Given the description of an element on the screen output the (x, y) to click on. 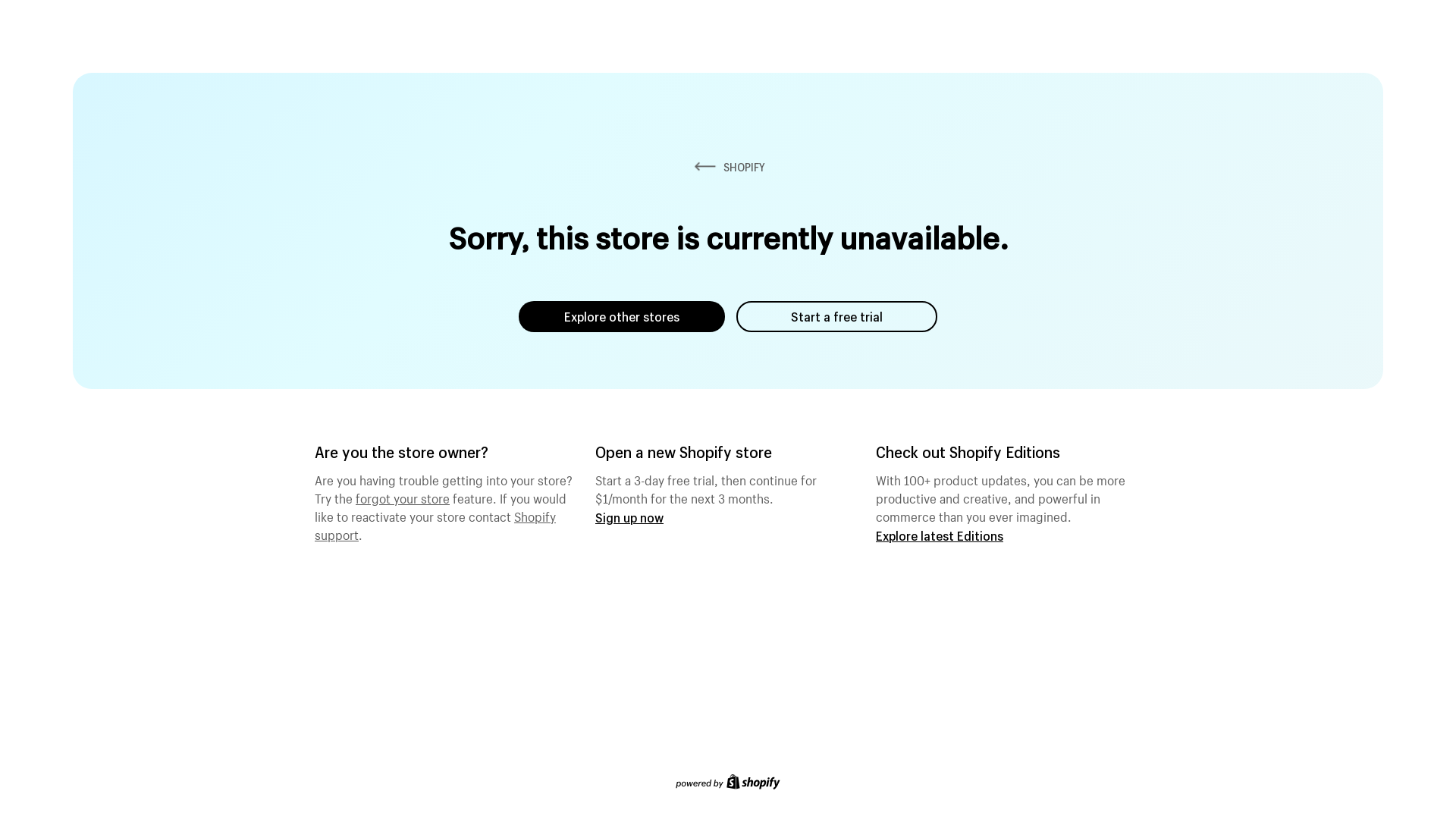
SHOPIFY Element type: text (727, 167)
Explore other stores Element type: text (621, 316)
Shopify support Element type: text (434, 523)
Explore latest Editions Element type: text (939, 535)
Sign up now Element type: text (629, 517)
forgot your store Element type: text (402, 496)
Start a free trial Element type: text (836, 316)
